Given the description of an element on the screen output the (x, y) to click on. 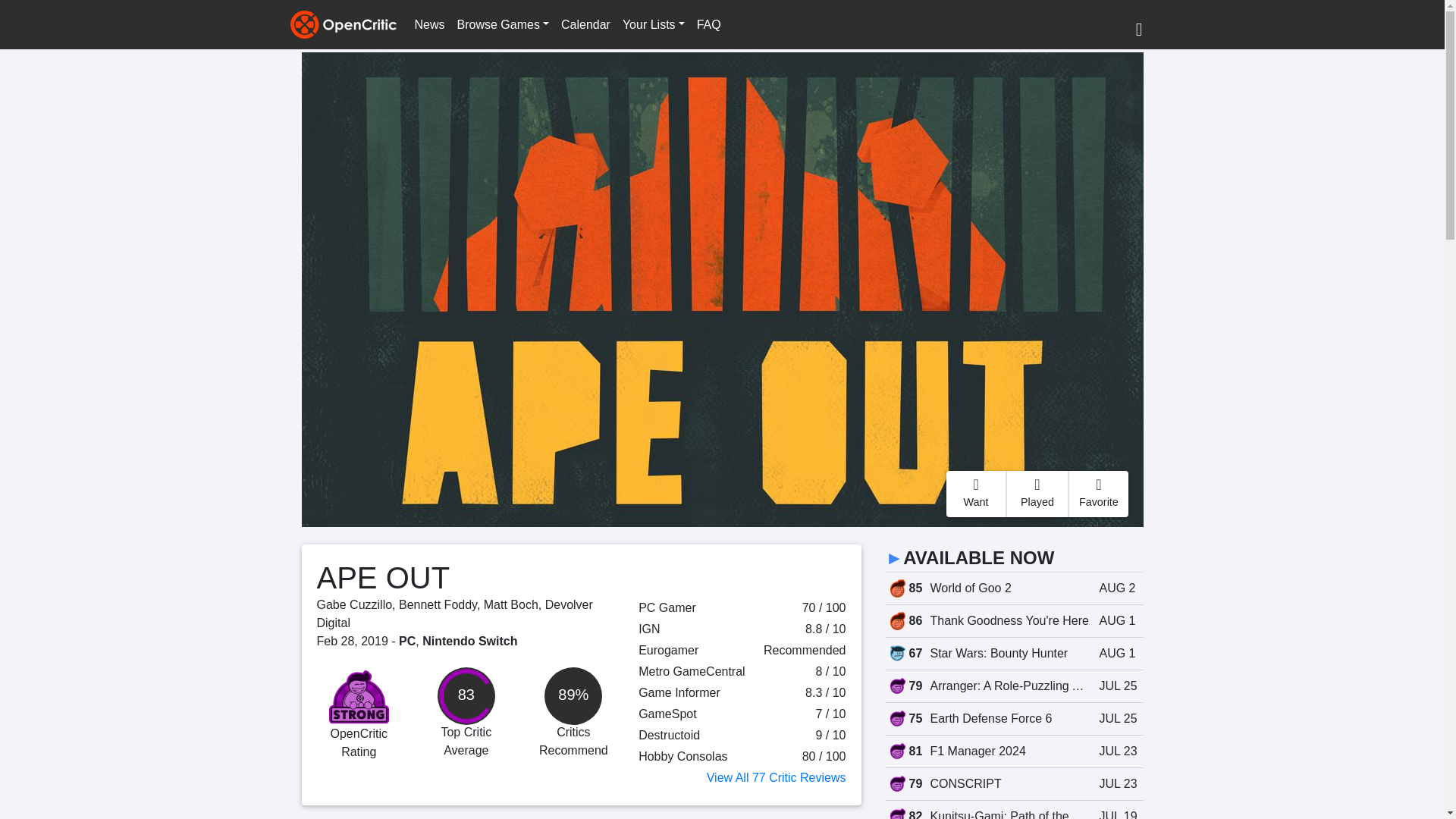
News (428, 24)
View All 77 Critic Reviews (775, 777)
Your Lists (652, 24)
FAQ (708, 24)
Calendar (584, 24)
Browse Games (502, 24)
